Given the description of an element on the screen output the (x, y) to click on. 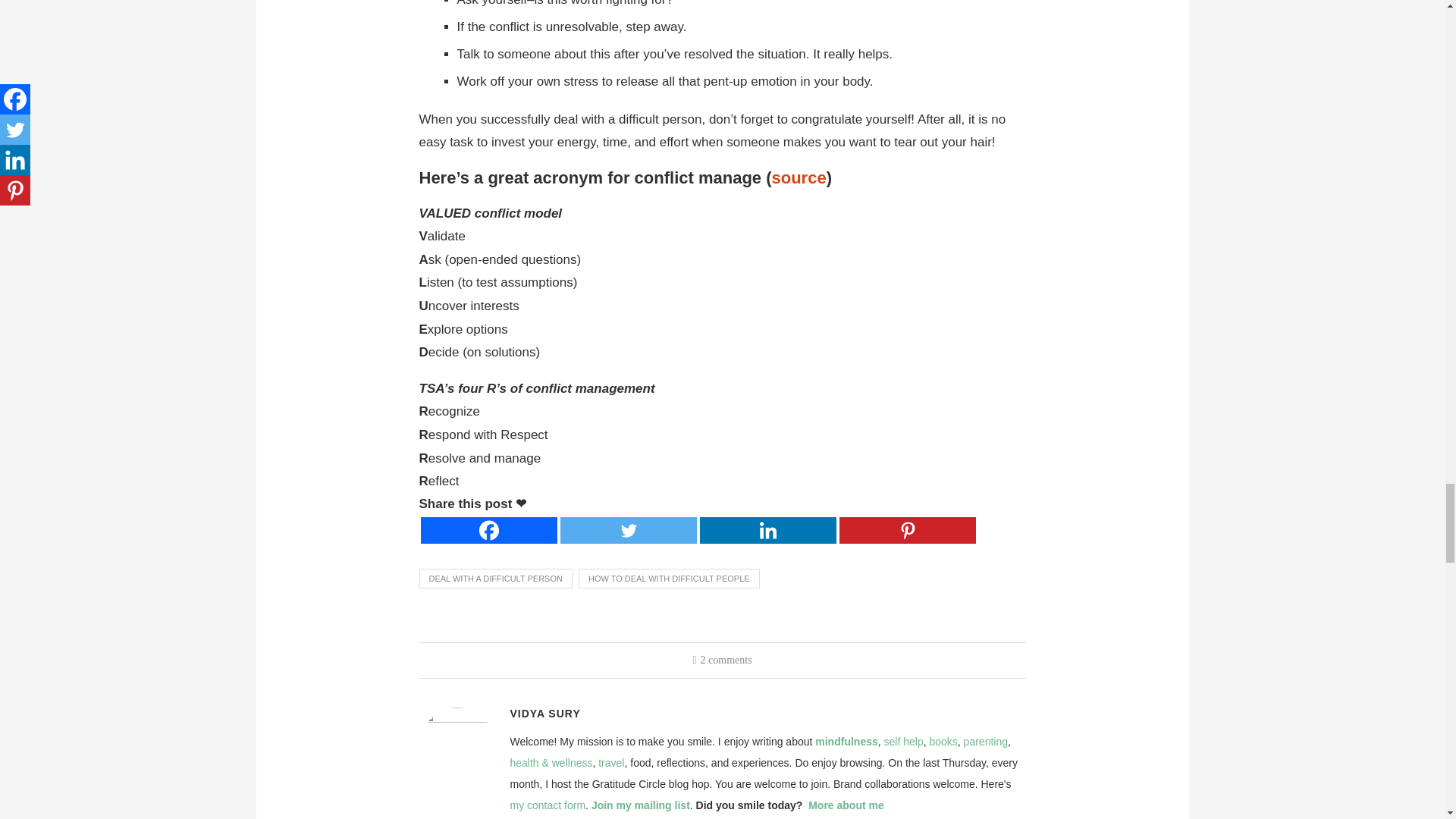
Twitter (627, 529)
Linkedin (766, 529)
Posts by Vidya Sury (544, 713)
Pinterest (906, 529)
Facebook (488, 529)
